Given the description of an element on the screen output the (x, y) to click on. 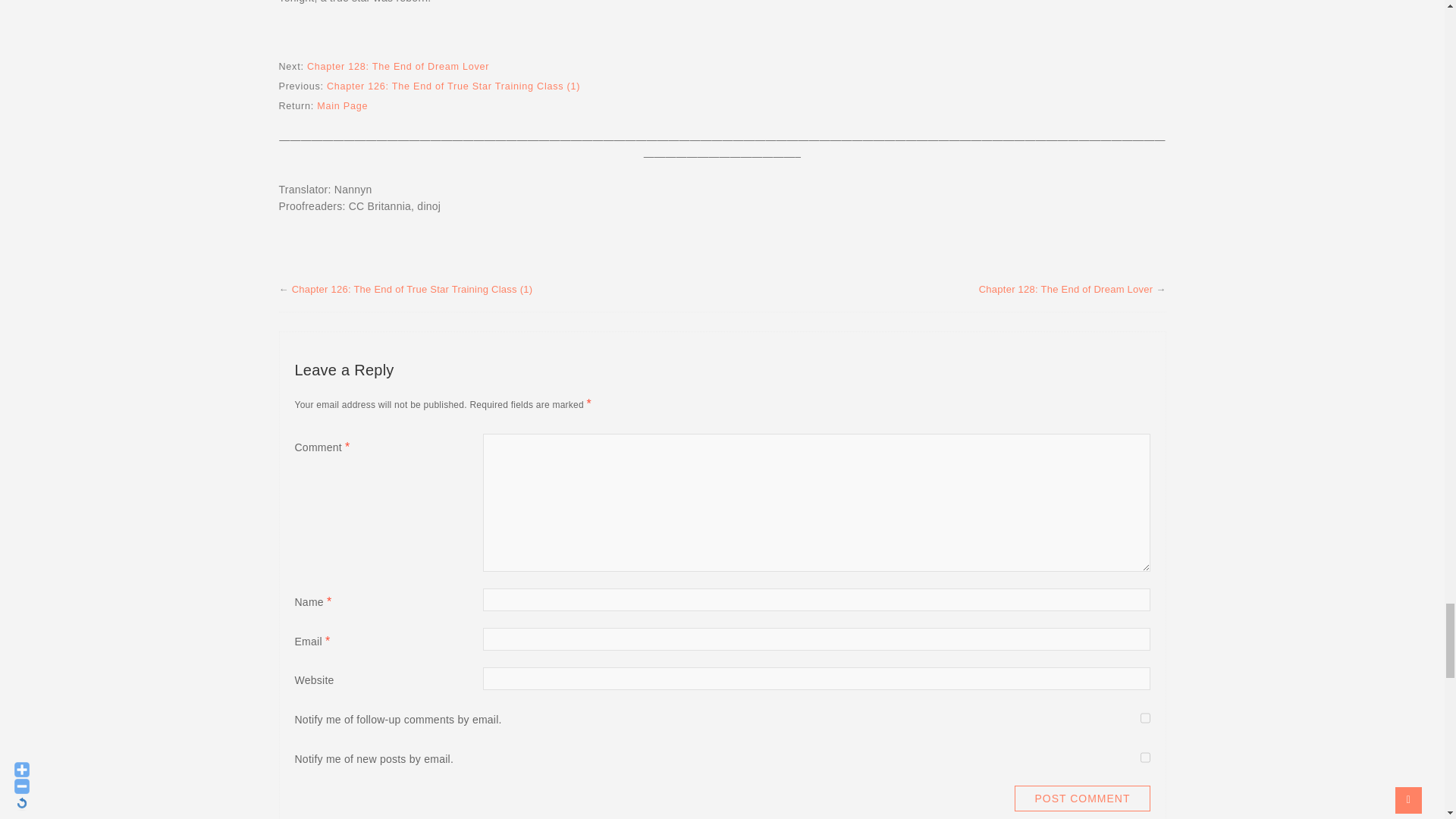
Post Comment (1082, 798)
Main Page (342, 105)
Post Comment (1082, 798)
Chapter 128: The End of Dream Lover (398, 66)
Chapter 128: The End of Dream Lover (1065, 288)
